Given the description of an element on the screen output the (x, y) to click on. 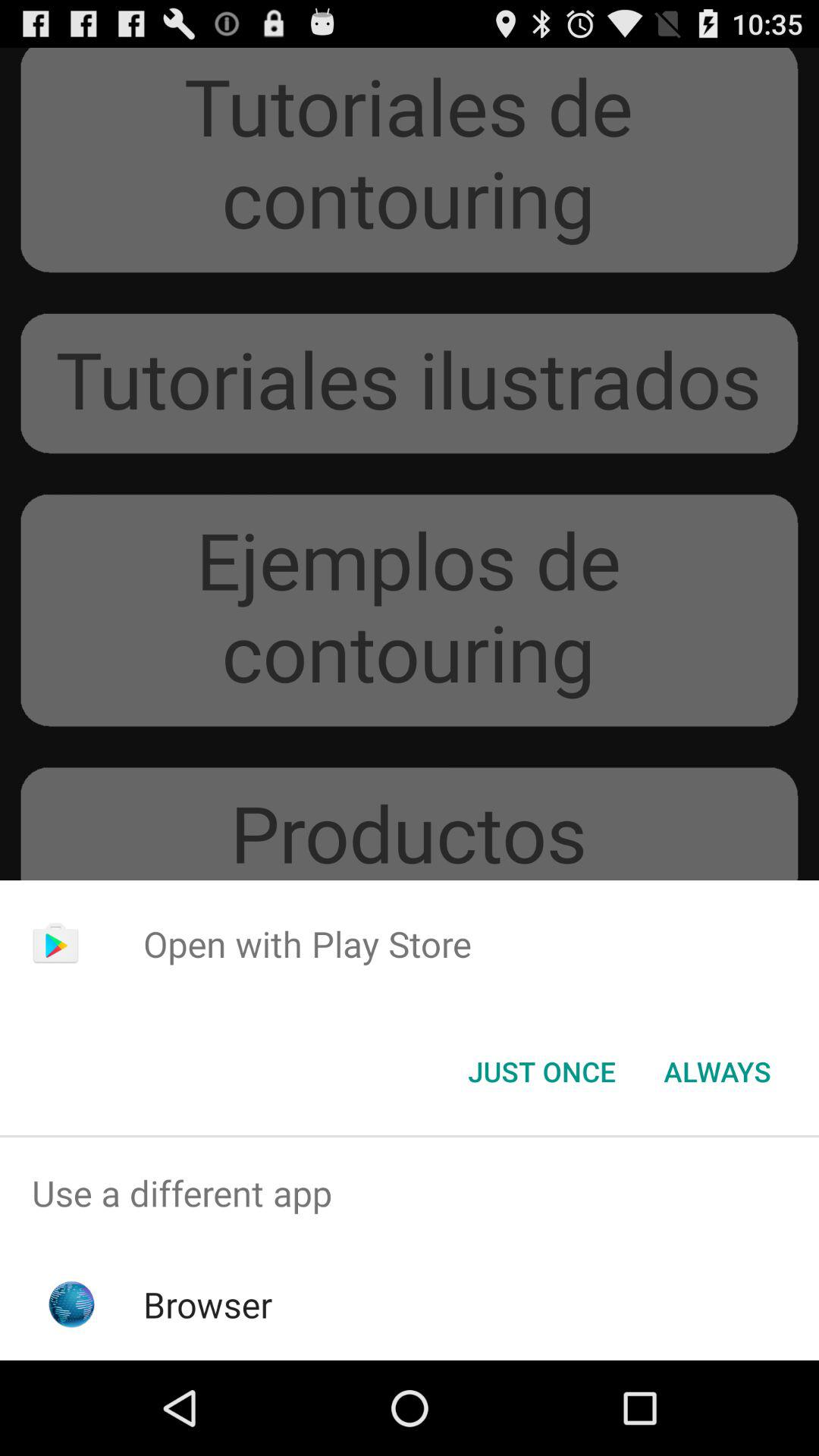
jump to the use a different (409, 1192)
